Given the description of an element on the screen output the (x, y) to click on. 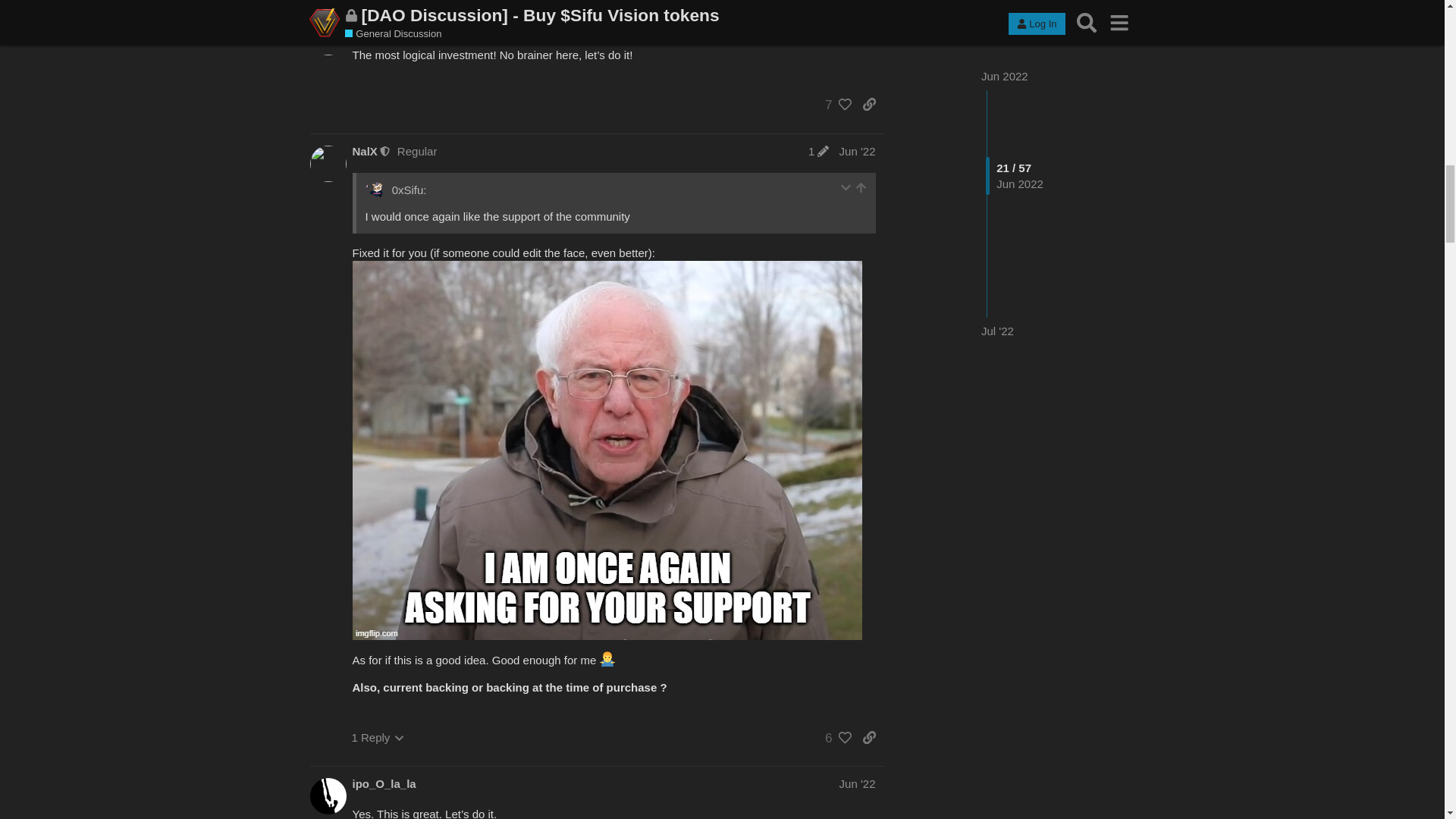
Volta Treasury Report Q3 2023 (593, 500)
Join the Volta Club Discord Server! (502, 6)
Join the Volta Club Discord Server! (502, 260)
Discord (372, 233)
01:32PM - 02 October 2023 (401, 474)
11:49AM - 17 September 2023 (405, 807)
